Given the description of an element on the screen output the (x, y) to click on. 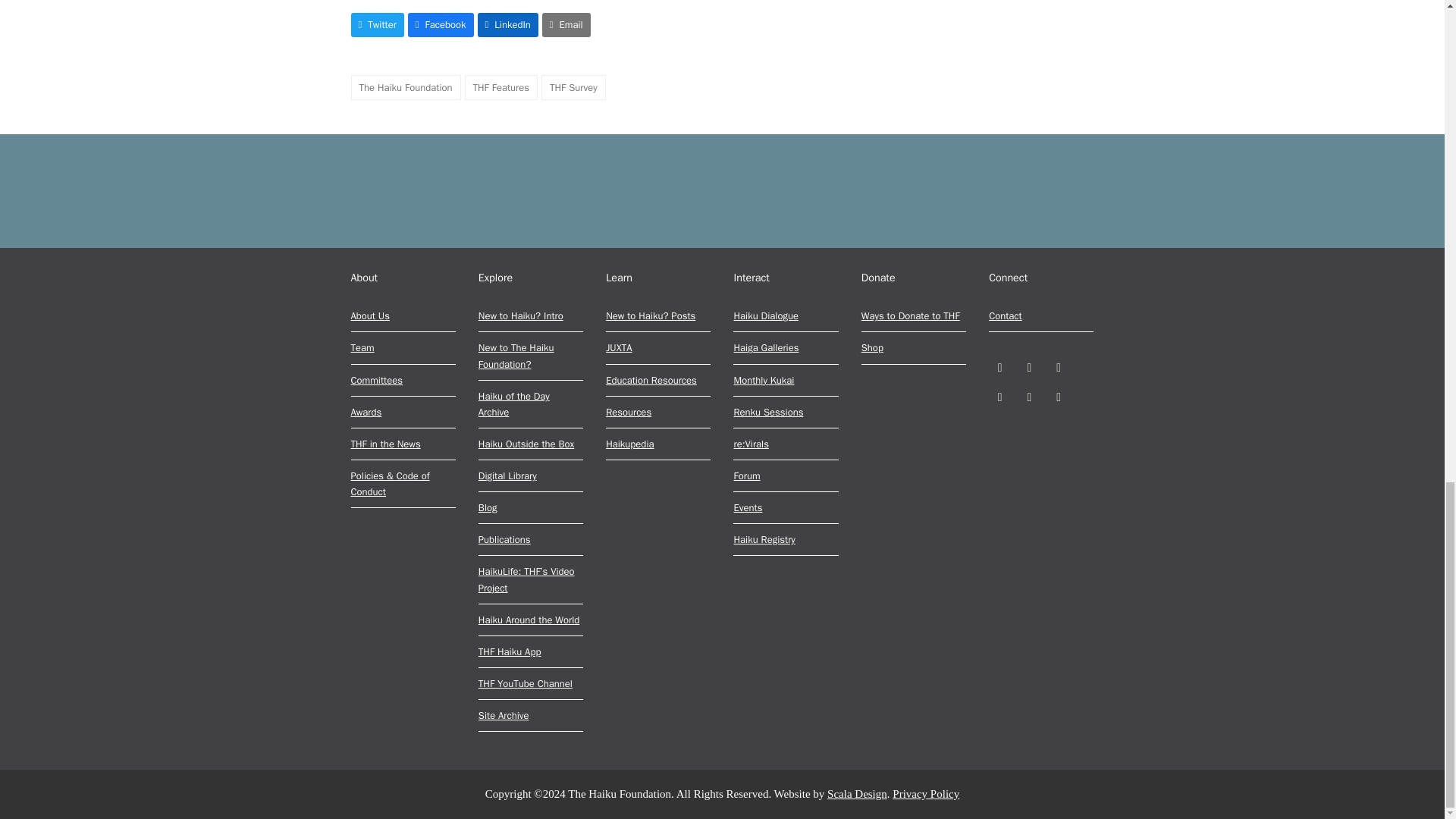
Pinterest (999, 396)
YouTube (1029, 396)
Twitter (999, 367)
Facebook (1029, 367)
Instagram (1059, 367)
Tiktok (1059, 396)
